Given the description of an element on the screen output the (x, y) to click on. 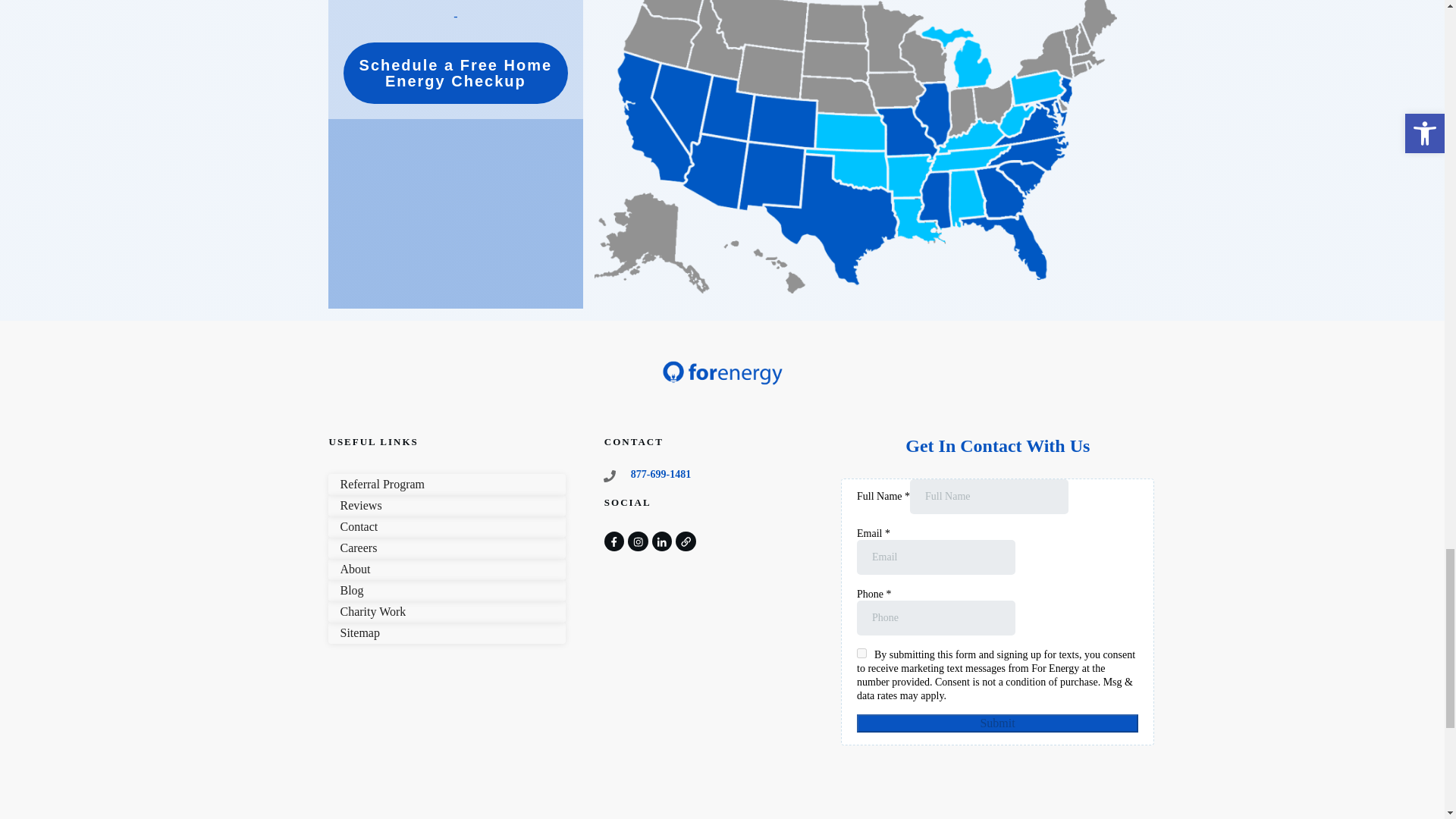
About FOR Energy (354, 569)
Sitemap (358, 632)
Reviews (360, 505)
Careers (358, 547)
Reviews (360, 505)
Sitemap (358, 632)
Charity Work (372, 611)
Schedule a Free Home Energy Checkup (454, 73)
Referral Program (382, 484)
Contact FOR Energy (358, 526)
